Given the description of an element on the screen output the (x, y) to click on. 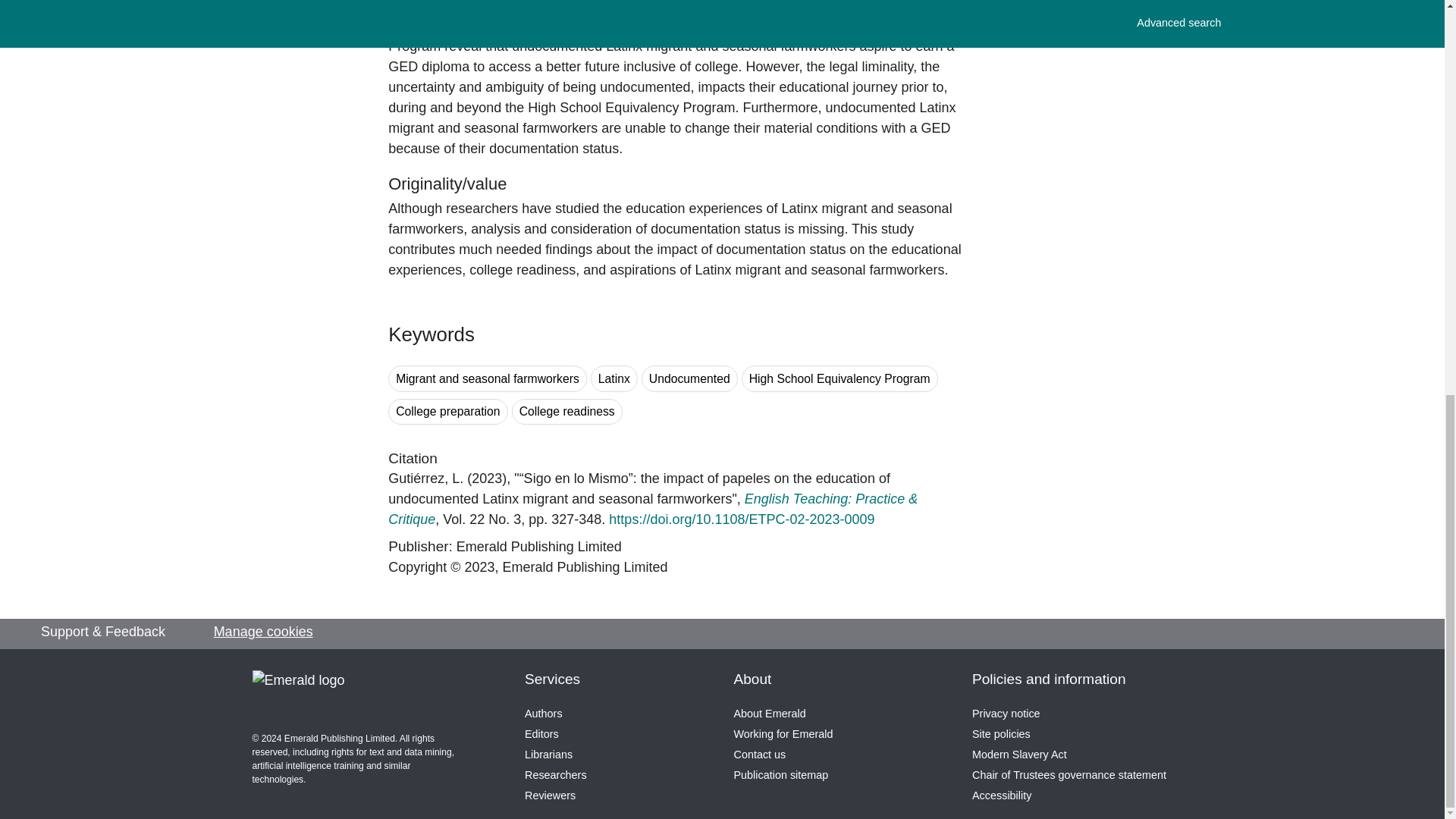
Working for Emerald (782, 734)
Authors (543, 713)
Search for keyword College readiness (567, 411)
Researchers (555, 775)
High School Equivalency Program (839, 378)
Search for keyword Undocumented (690, 378)
About Emerald (769, 713)
Contact us (759, 754)
Librarians (548, 754)
Search for keyword Migrant and seasonal farmworkers (487, 378)
